Given the description of an element on the screen output the (x, y) to click on. 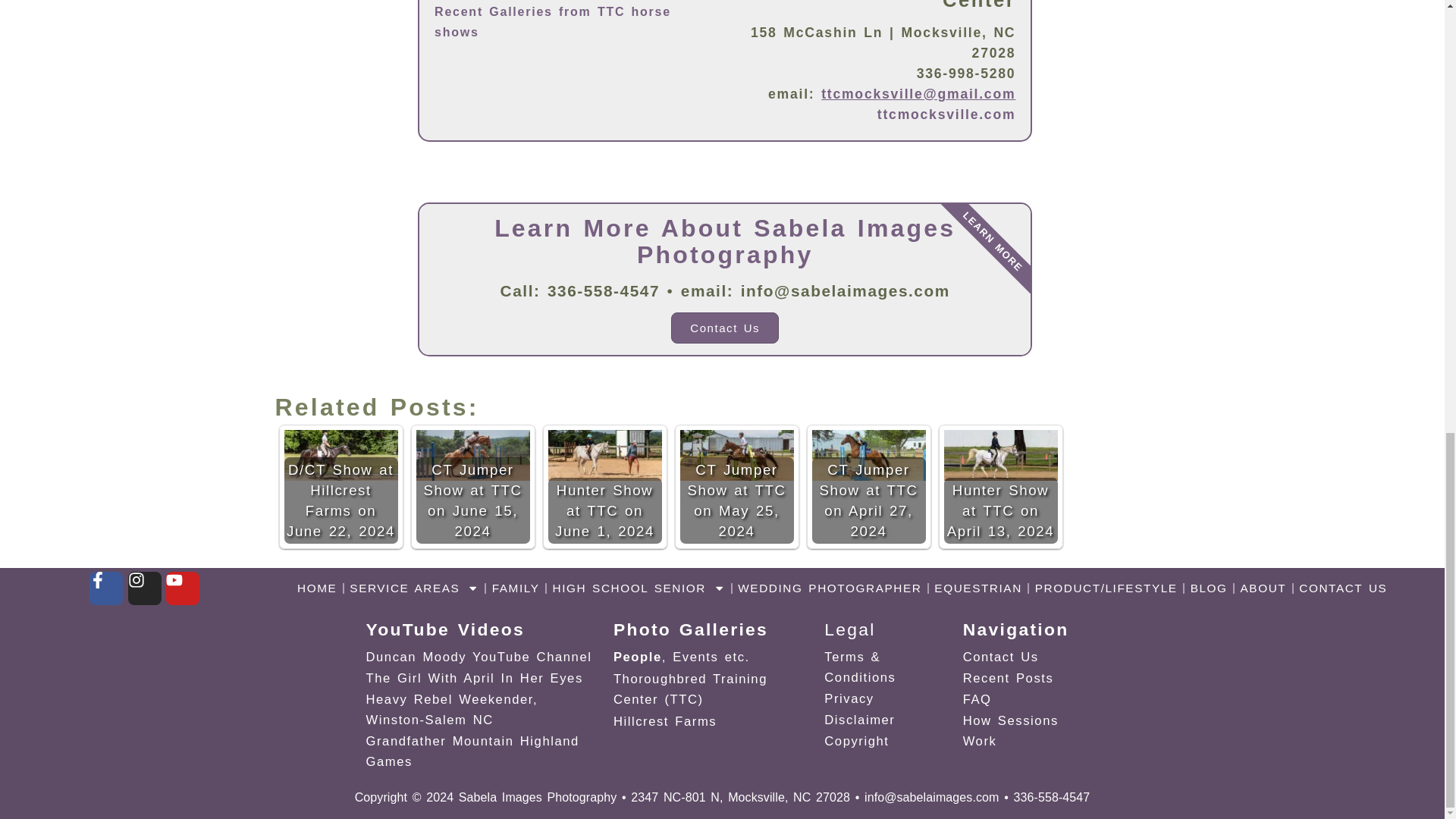
CT Jumper Show at TTC on June 15, 2024 (471, 454)
Hunter Show at TTC on April 13, 2024 (1000, 454)
CT Jumper Show at TTC on May 25, 2024 (736, 454)
CT Jumper Show at TTC on April 27, 2024 (867, 454)
Hunter Show at TTC on June 1, 2024 (604, 454)
